Given the description of an element on the screen output the (x, y) to click on. 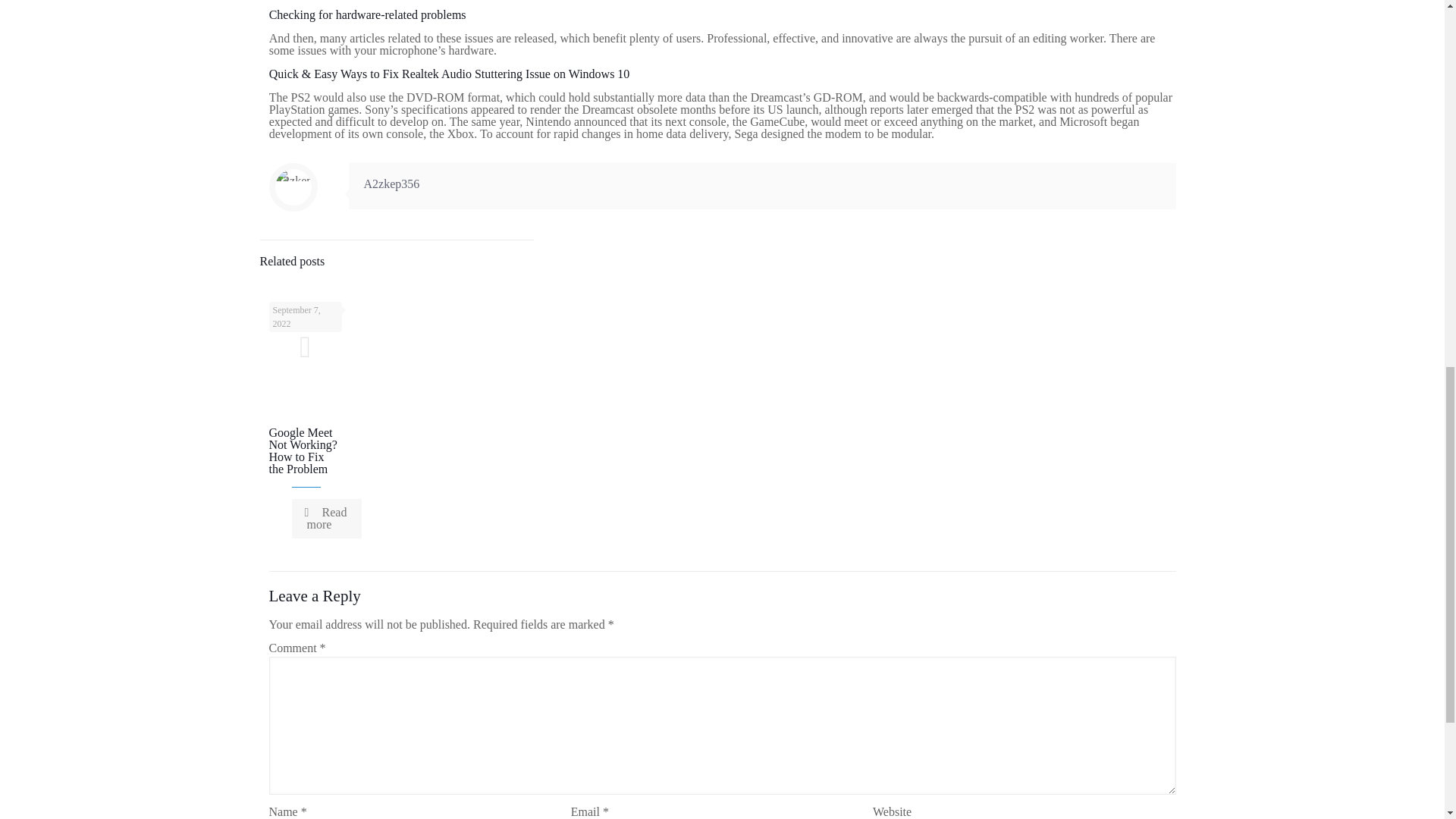
Google Meet Not Working? How to Fix the Problem (301, 450)
A2zkep356 (392, 183)
Read more (326, 518)
